Given the description of an element on the screen output the (x, y) to click on. 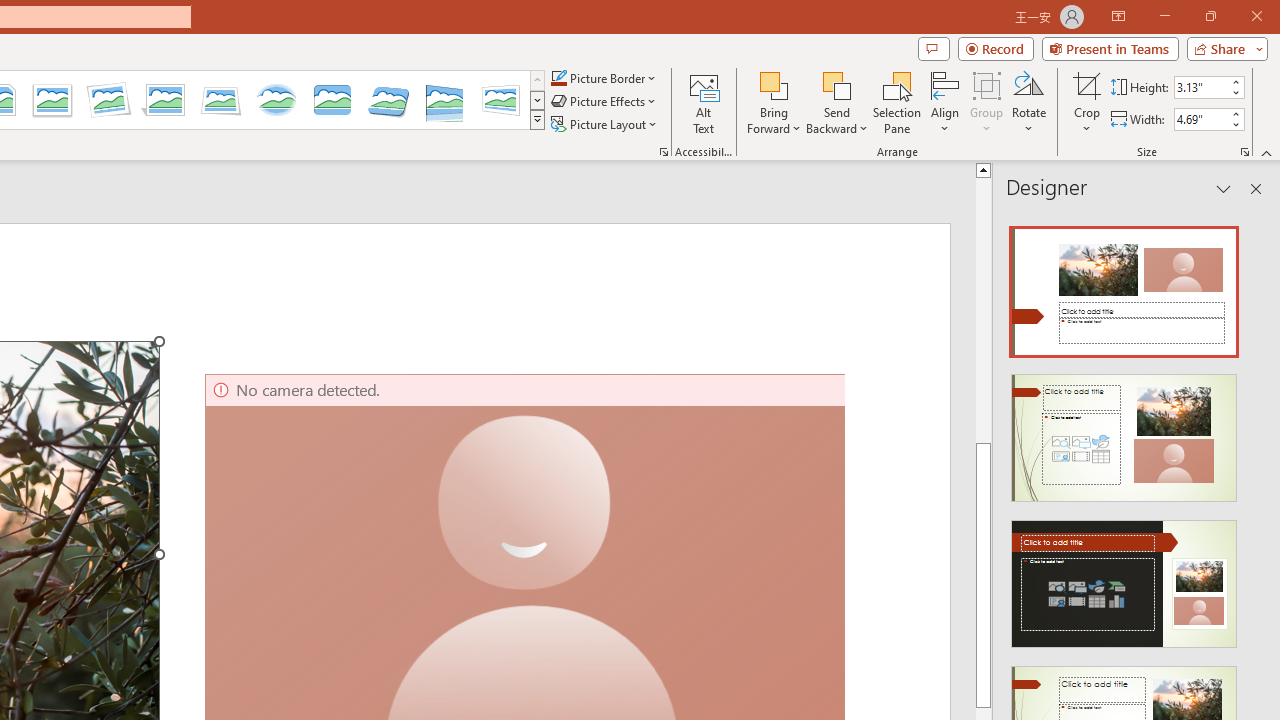
Bevel Rectangle (332, 100)
Bring Forward (773, 84)
Reflected Perspective Right (445, 100)
Moderate Frame, White (52, 100)
Size and Position... (1244, 151)
Shape Width (1201, 119)
Picture Border (603, 78)
Send Backward (836, 84)
